Given the description of an element on the screen output the (x, y) to click on. 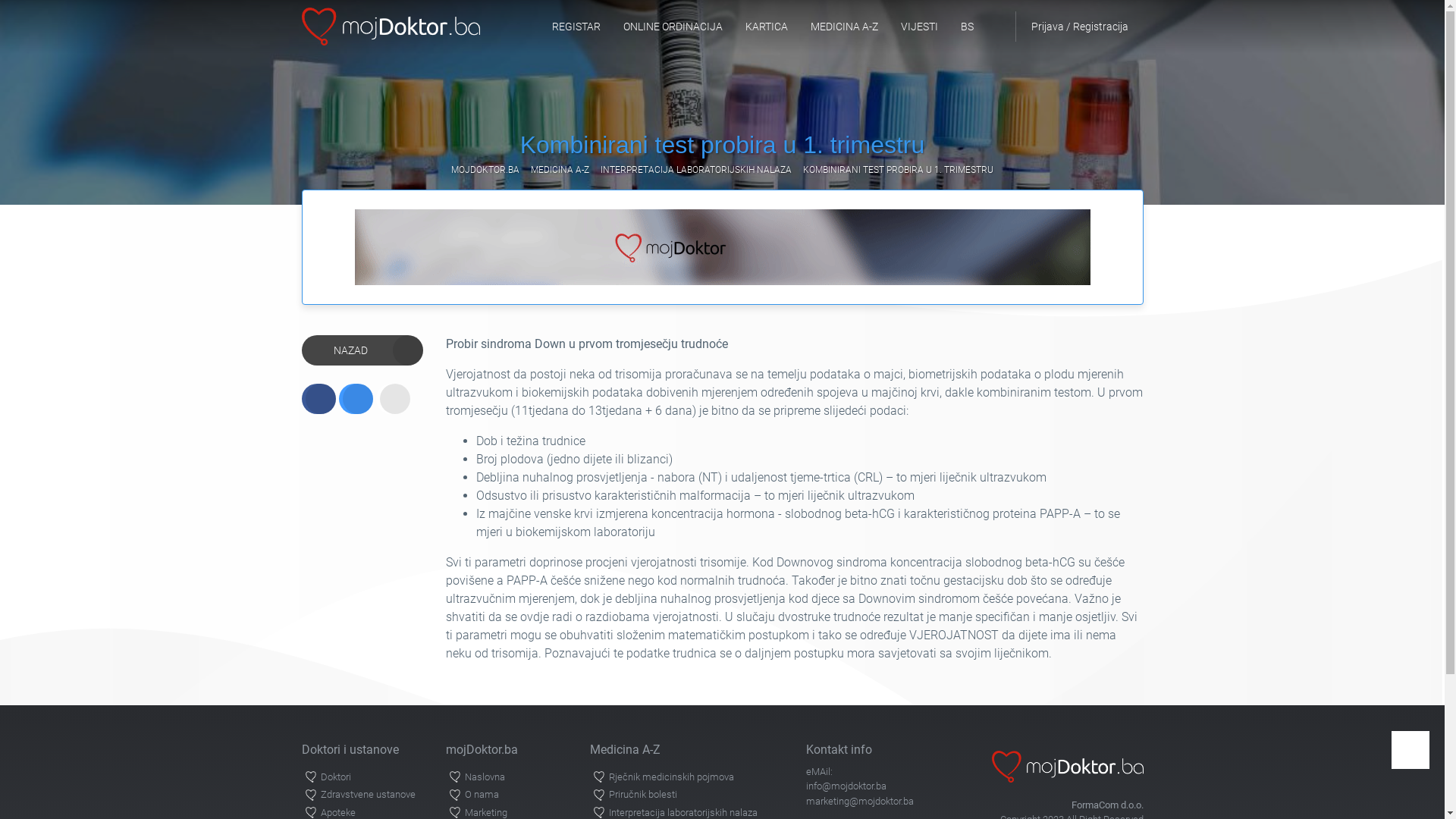
MEDICINA A-Z Element type: text (844, 26)
ONLINE ORDINACIJA Element type: text (672, 26)
Zdravstvene ustanove Element type: text (363, 794)
MEDICINA A-Z Element type: text (559, 169)
KARTICA Element type: text (766, 26)
REGISTAR Element type: text (575, 26)
O nama Element type: text (507, 794)
INTERPRETACIJA LABORATORIJSKIH NALAZA Element type: text (695, 169)
Naslovna Element type: text (507, 777)
NAZAD Element type: text (362, 350)
KOMBINIRANI TEST PROBIRA U 1. TRIMESTRU Element type: text (898, 169)
VIJESTI Element type: text (918, 26)
Prijava / Registracija Element type: text (1078, 26)
BS Element type: text (967, 26)
MOJDOKTOR.BA Element type: text (485, 169)
Doktori Element type: text (363, 777)
